Given the description of an element on the screen output the (x, y) to click on. 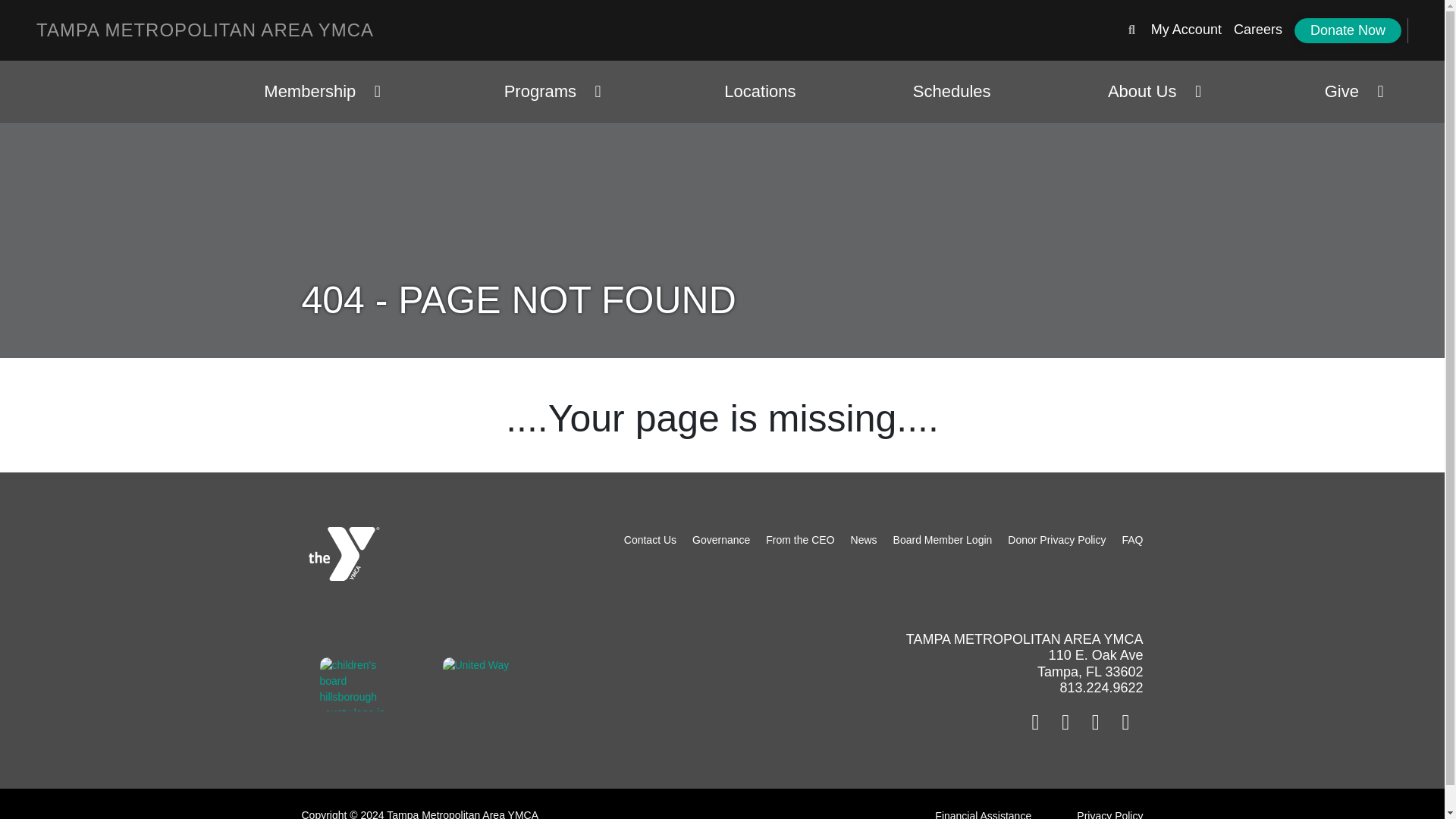
Work at the Tampa Y (1257, 29)
Register for Programs (1186, 29)
Home (205, 29)
